Given the description of an element on the screen output the (x, y) to click on. 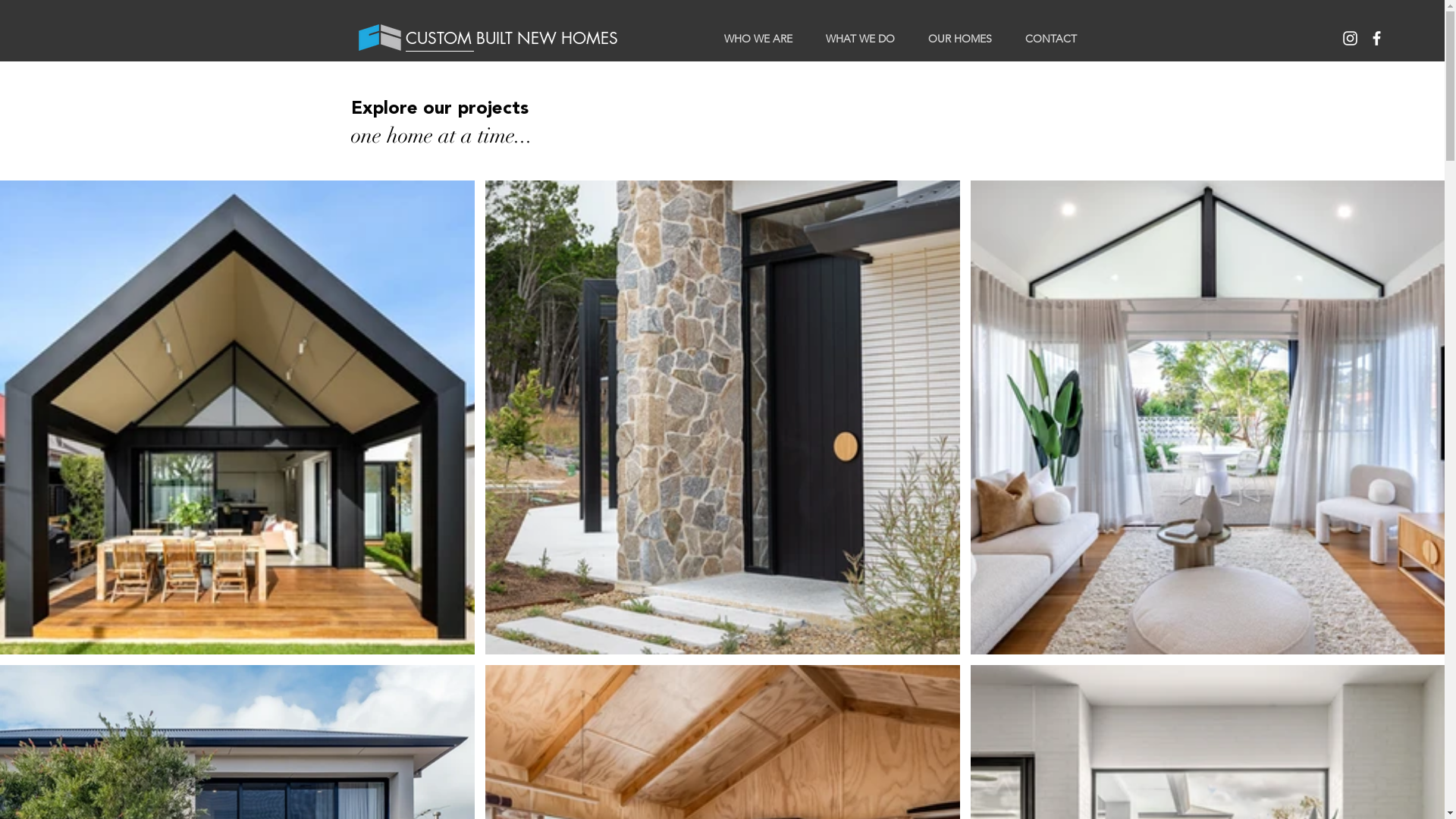
CUSTOM BUILT NEW HOMES Element type: text (518, 38)
WHAT WE DO Element type: text (859, 31)
TWIPLA (Visitor Analytics) Element type: hover (1442, 4)
CONTACT Element type: text (1050, 31)
OUR HOMES Element type: text (959, 31)
WHO WE ARE Element type: text (757, 31)
